Given the description of an element on the screen output the (x, y) to click on. 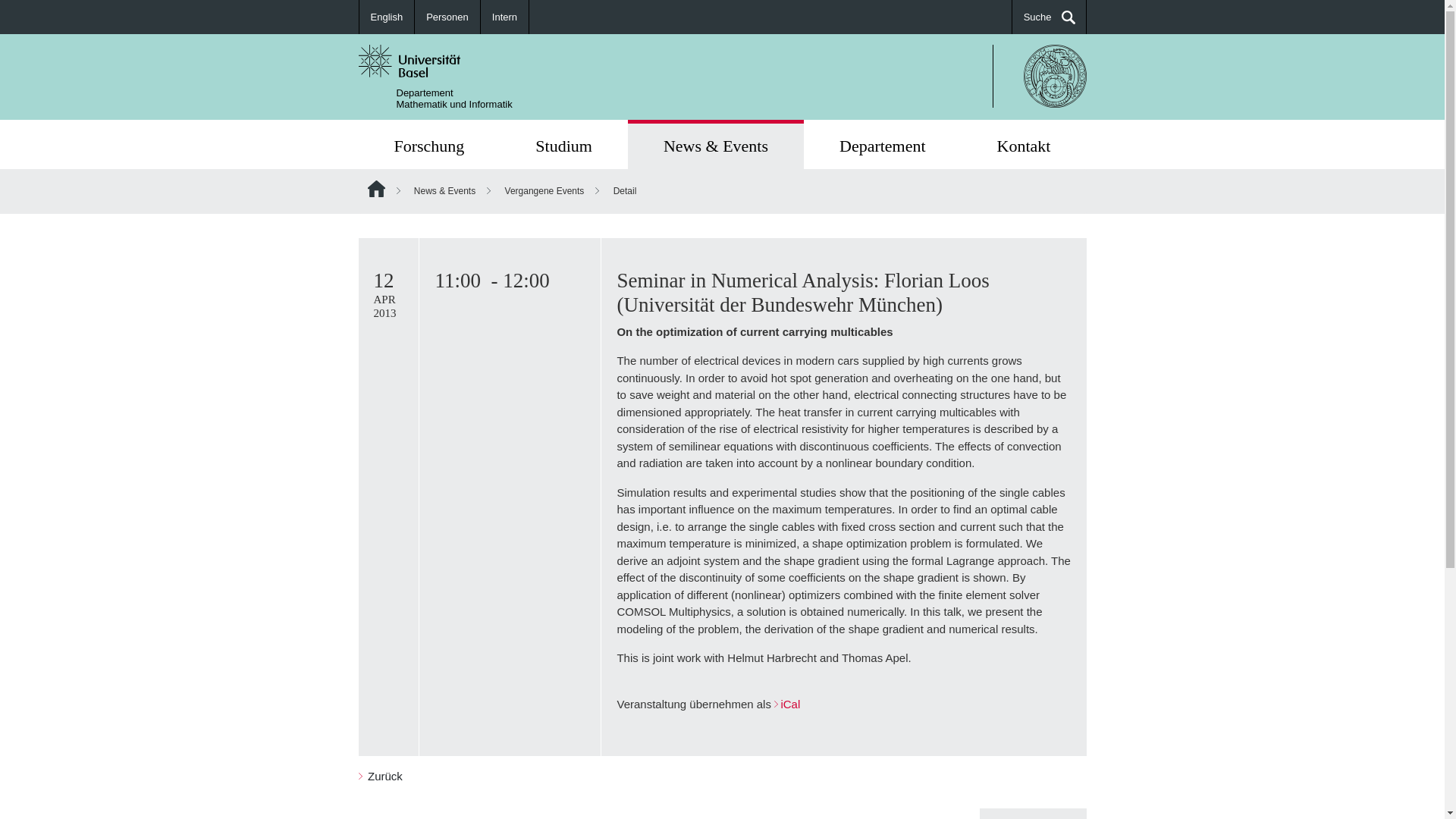
Vergangene Events (545, 190)
Suche (1048, 17)
Nach oben (1032, 813)
Intern (504, 17)
Studium (563, 143)
English (386, 17)
Forschung (428, 143)
Personen (446, 17)
Personen (454, 97)
Departement (447, 17)
Forschung (881, 143)
Kontakt (428, 143)
Studium (1023, 143)
Departement (563, 143)
